Given the description of an element on the screen output the (x, y) to click on. 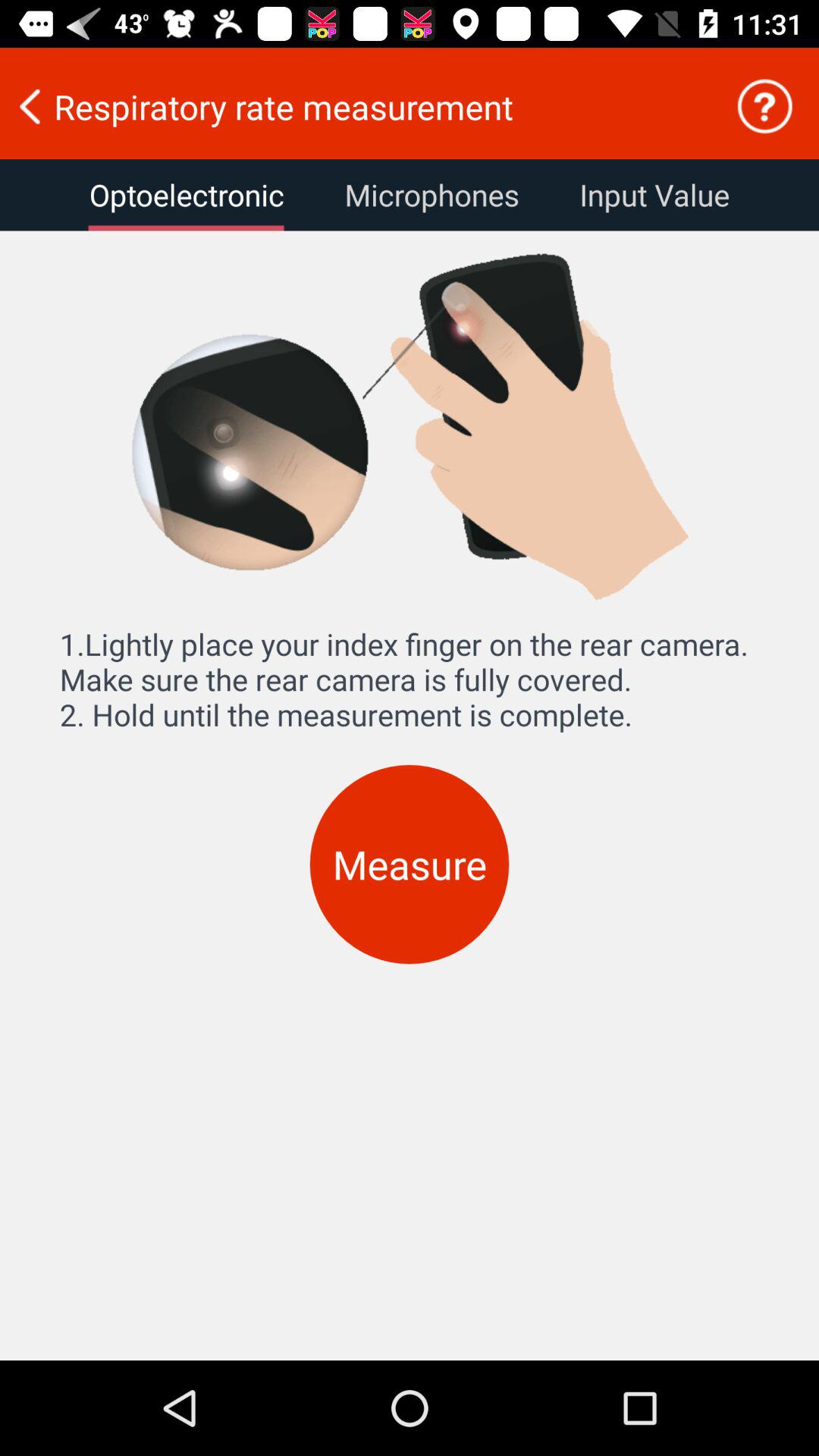
tap icon next to input value icon (431, 194)
